Given the description of an element on the screen output the (x, y) to click on. 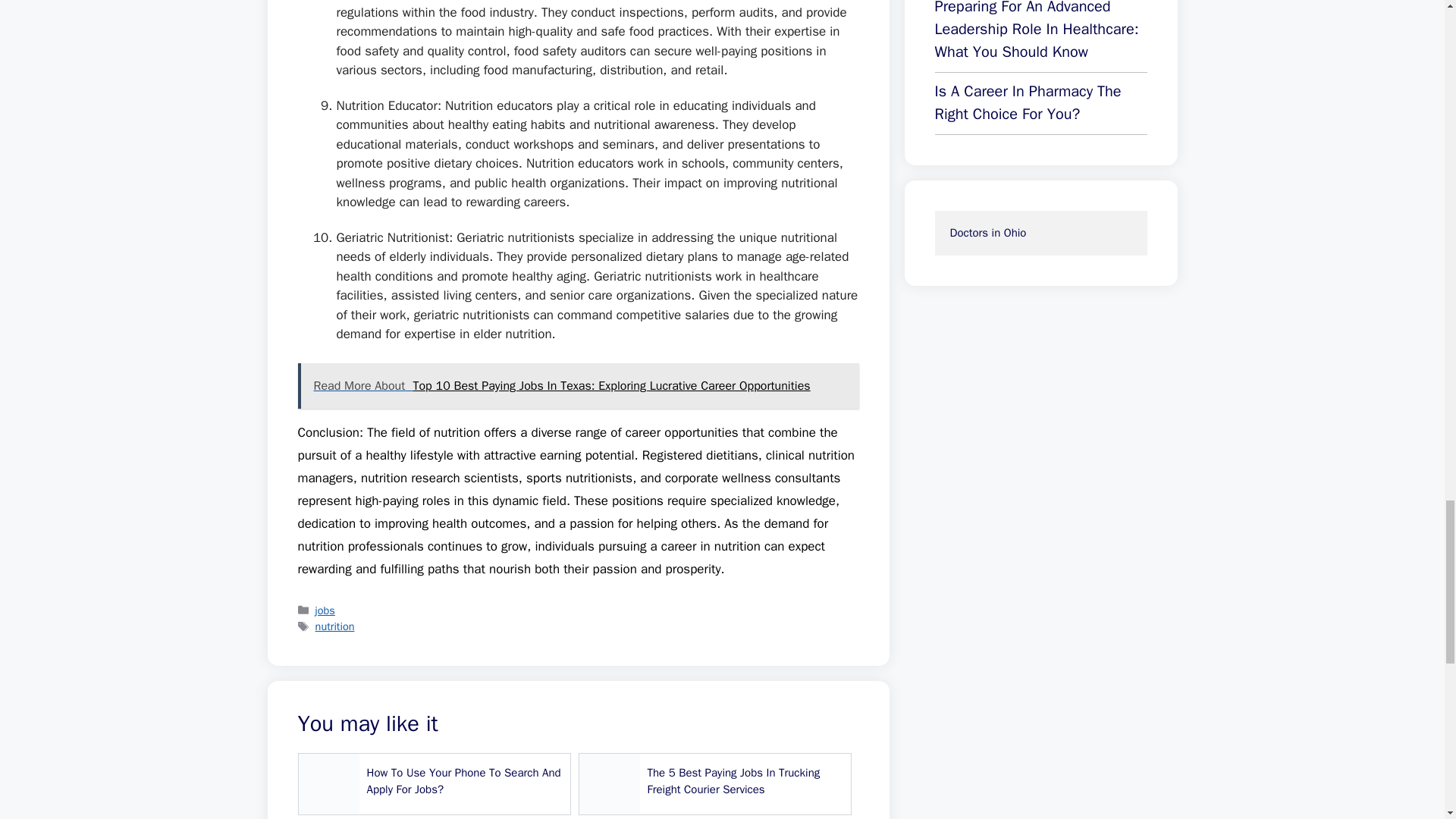
How To Use Your Phone To Search and Apply for Jobs? (433, 783)
nutrition (335, 626)
How To Use Your Phone To Search And Apply For Jobs? (433, 783)
The 5 best paying jobs in trucking freight courier services (714, 783)
The 5 Best Paying Jobs In Trucking Freight Courier Services (714, 783)
jobs (324, 610)
